Given the description of an element on the screen output the (x, y) to click on. 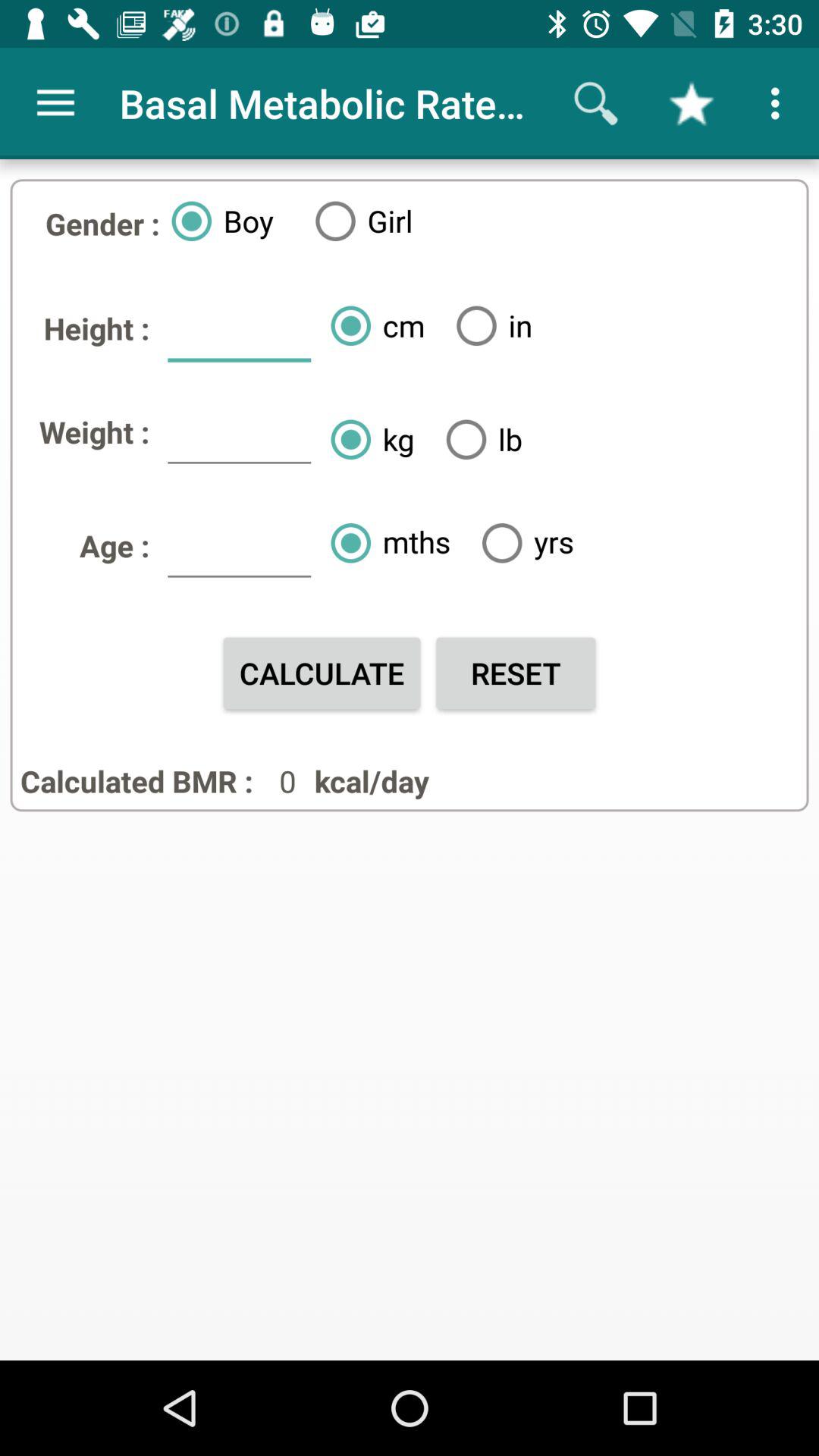
press in (488, 325)
